Given the description of an element on the screen output the (x, y) to click on. 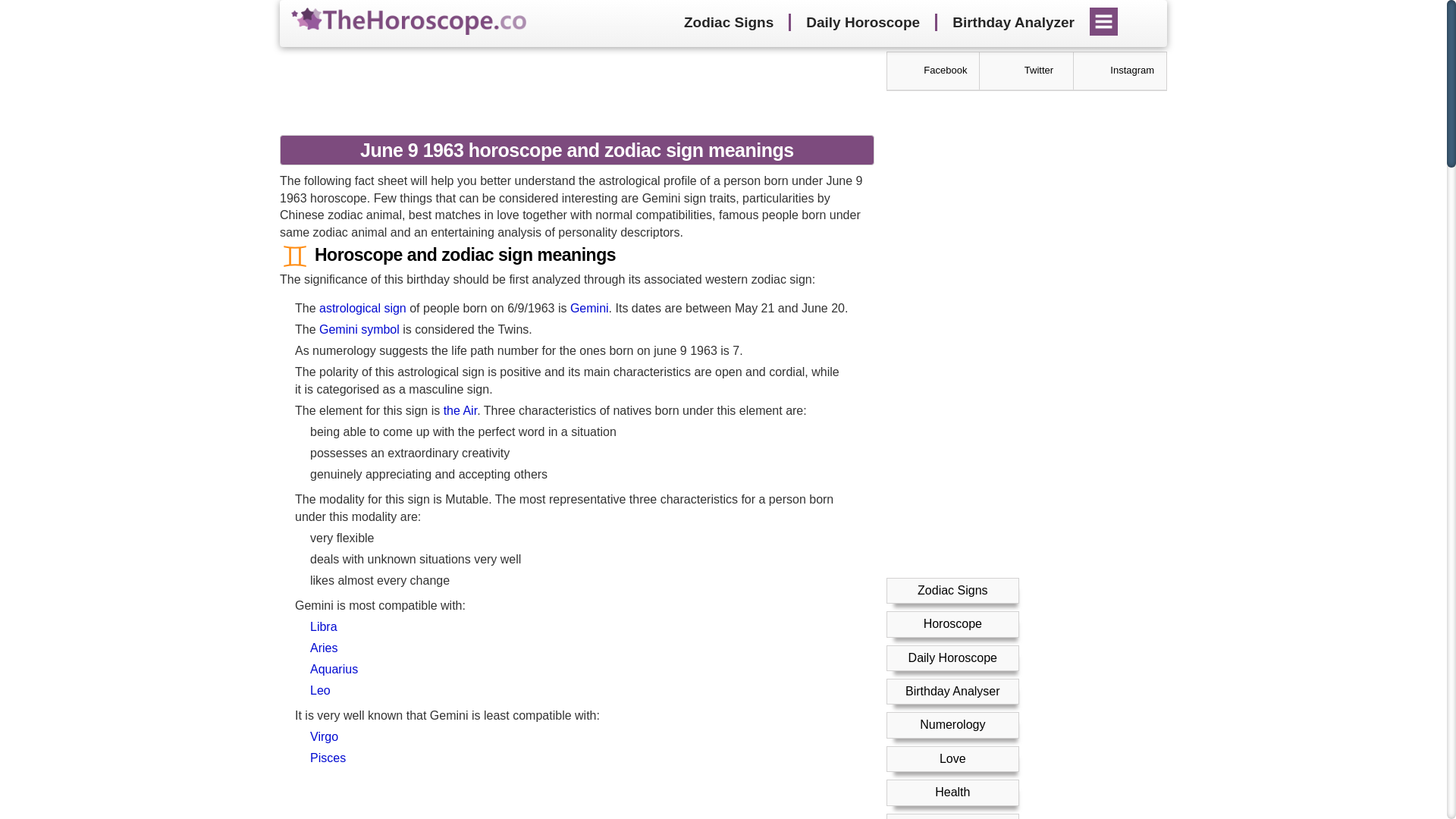
Menu (1104, 16)
Love (952, 758)
Zodiac Signs (728, 22)
Search by your birthday... (1140, 21)
Horoscope (952, 623)
Health (952, 791)
Daily Horoscope (952, 657)
Numerology (952, 724)
Birthday Analyser (952, 690)
